Given the description of an element on the screen output the (x, y) to click on. 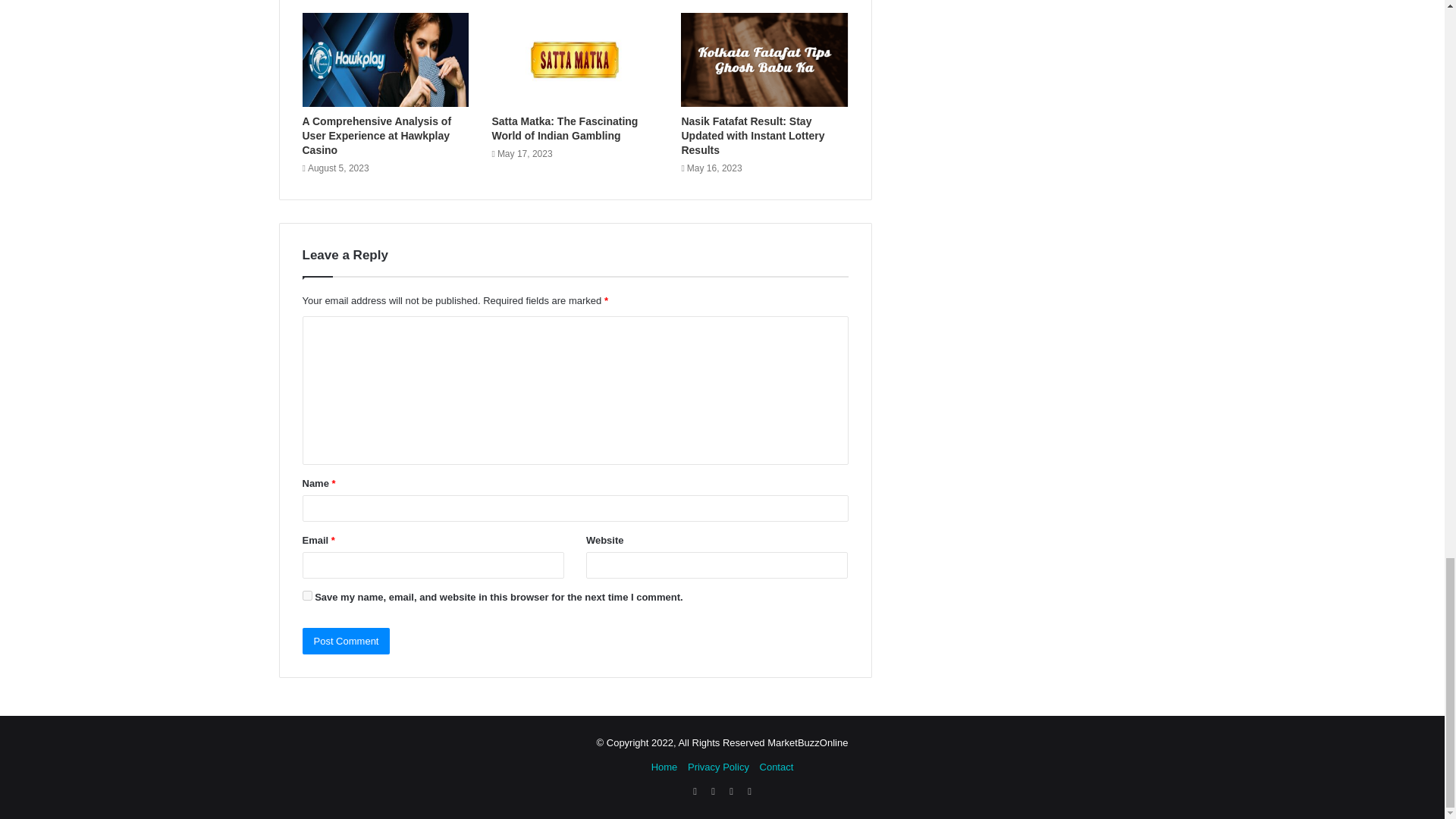
Post Comment (345, 641)
yes (306, 595)
